Given the description of an element on the screen output the (x, y) to click on. 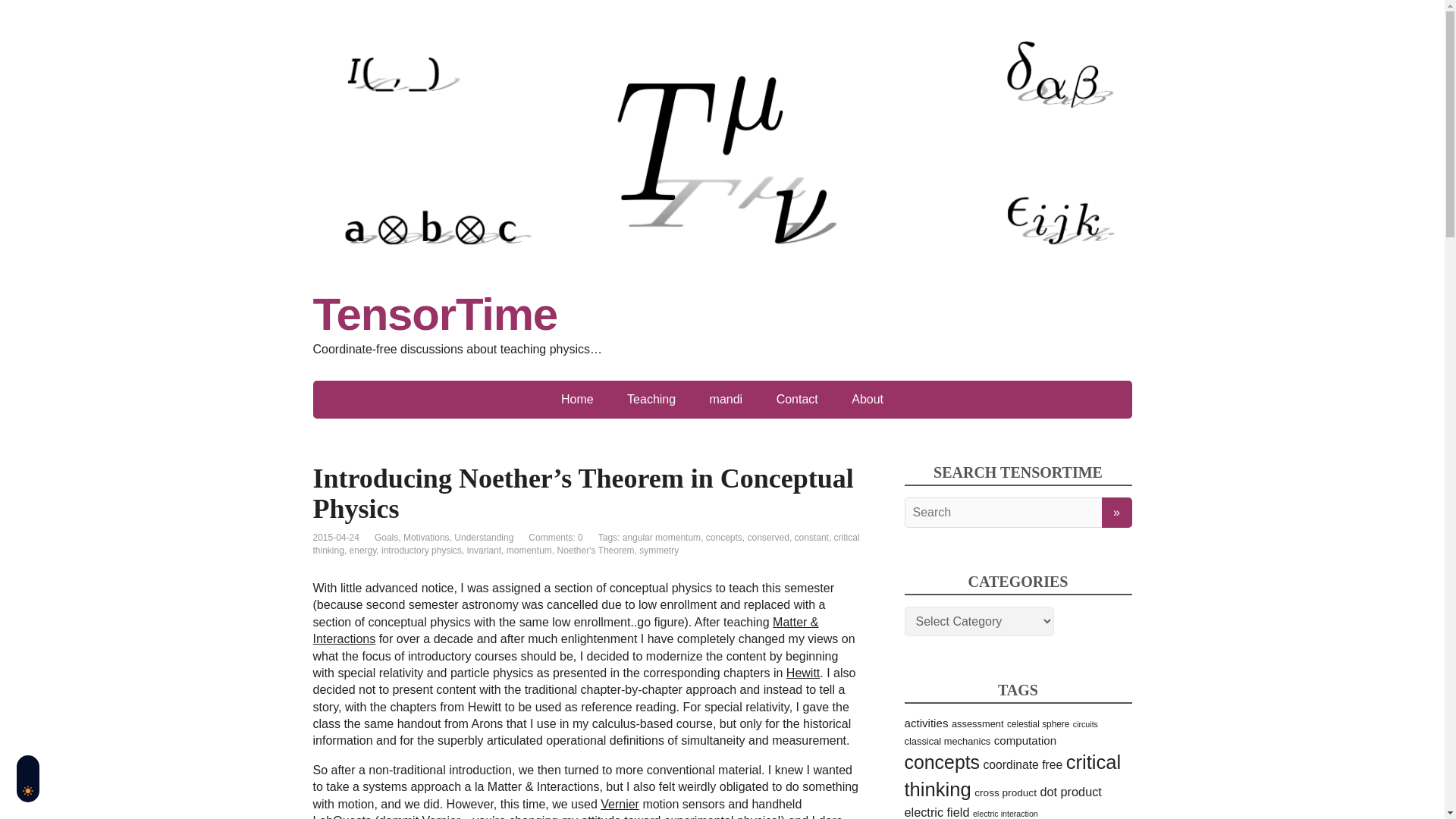
invariant (483, 550)
About (866, 399)
Conceptual Physics (802, 672)
mandi (726, 399)
Noether's Theorem (594, 550)
Understanding (483, 537)
energy (363, 550)
introductory physics (421, 550)
Contact (796, 399)
Home (577, 399)
